Given the description of an element on the screen output the (x, y) to click on. 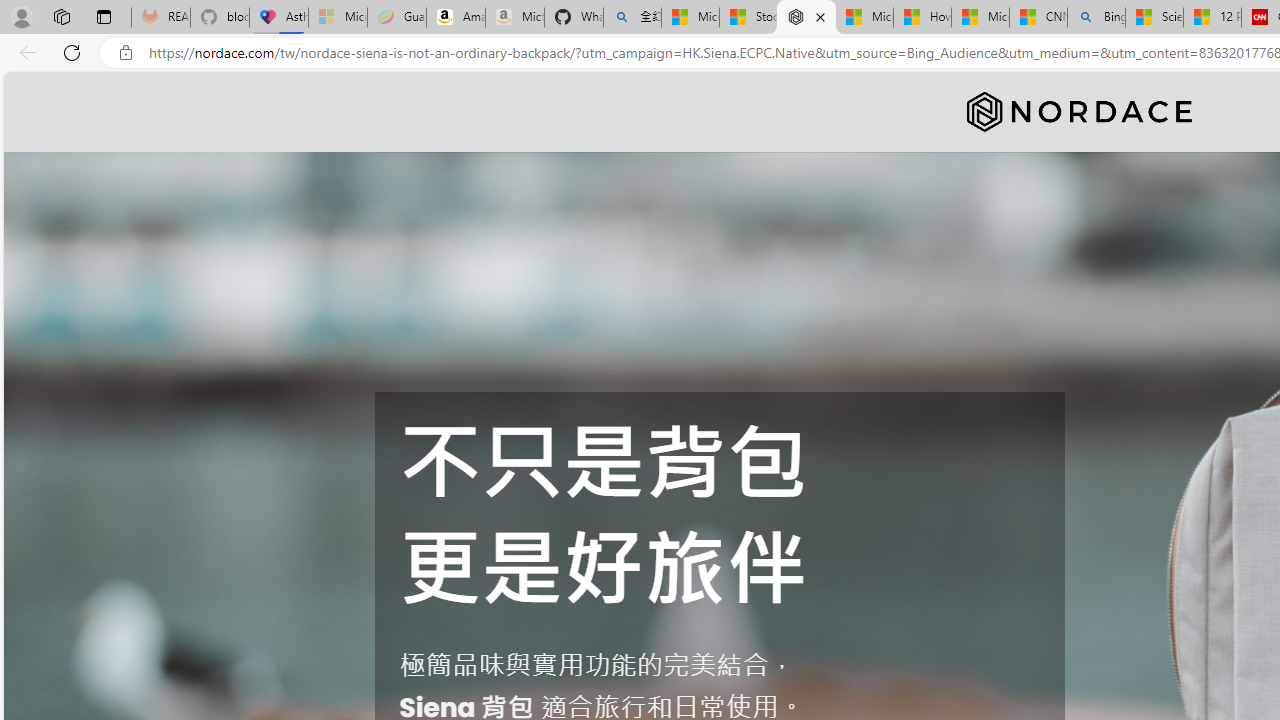
CNN - MSN (1038, 17)
